Given the description of an element on the screen output the (x, y) to click on. 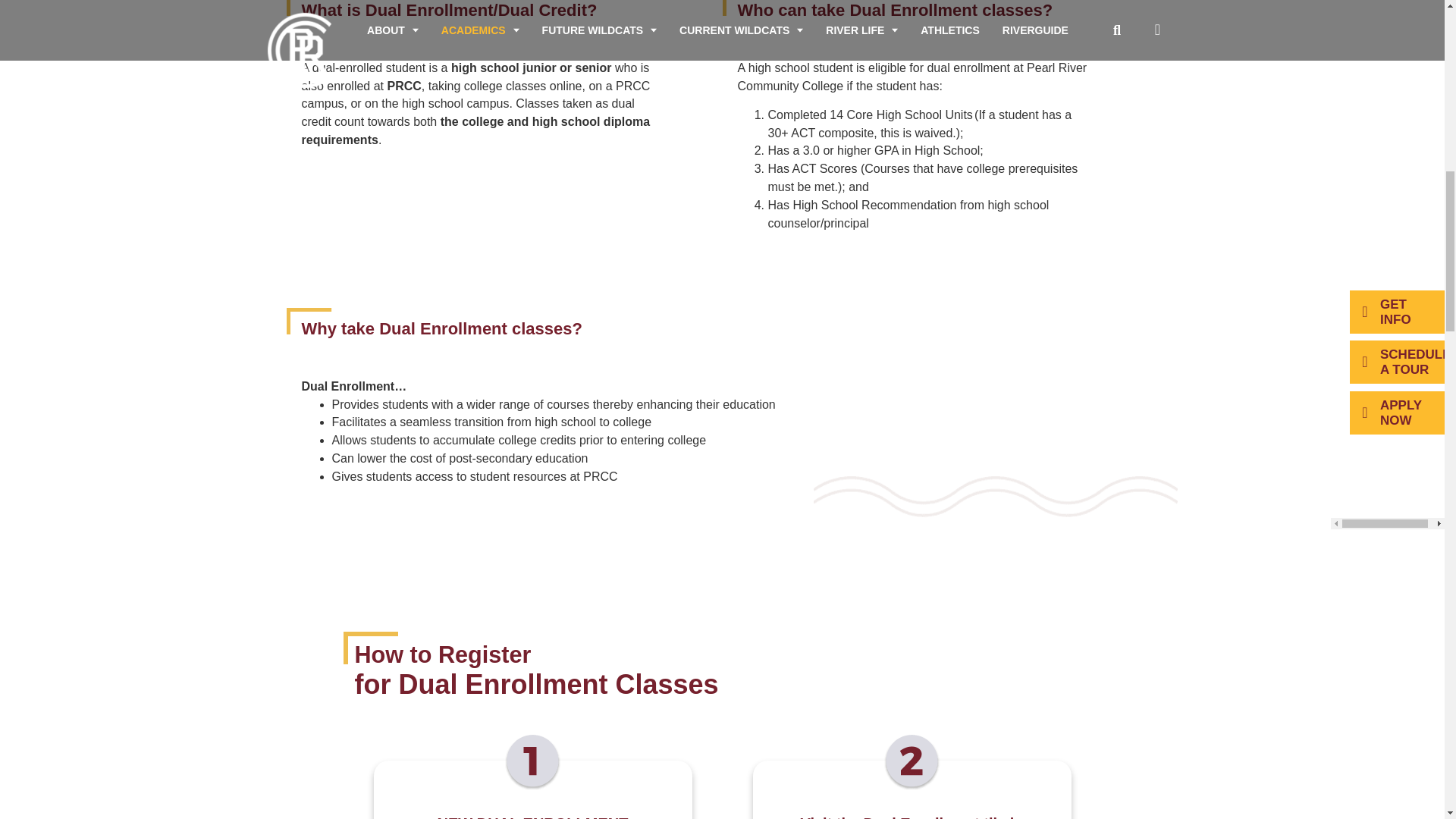
step-1-150b (531, 762)
step-2-150 (911, 762)
